Given the description of an element on the screen output the (x, y) to click on. 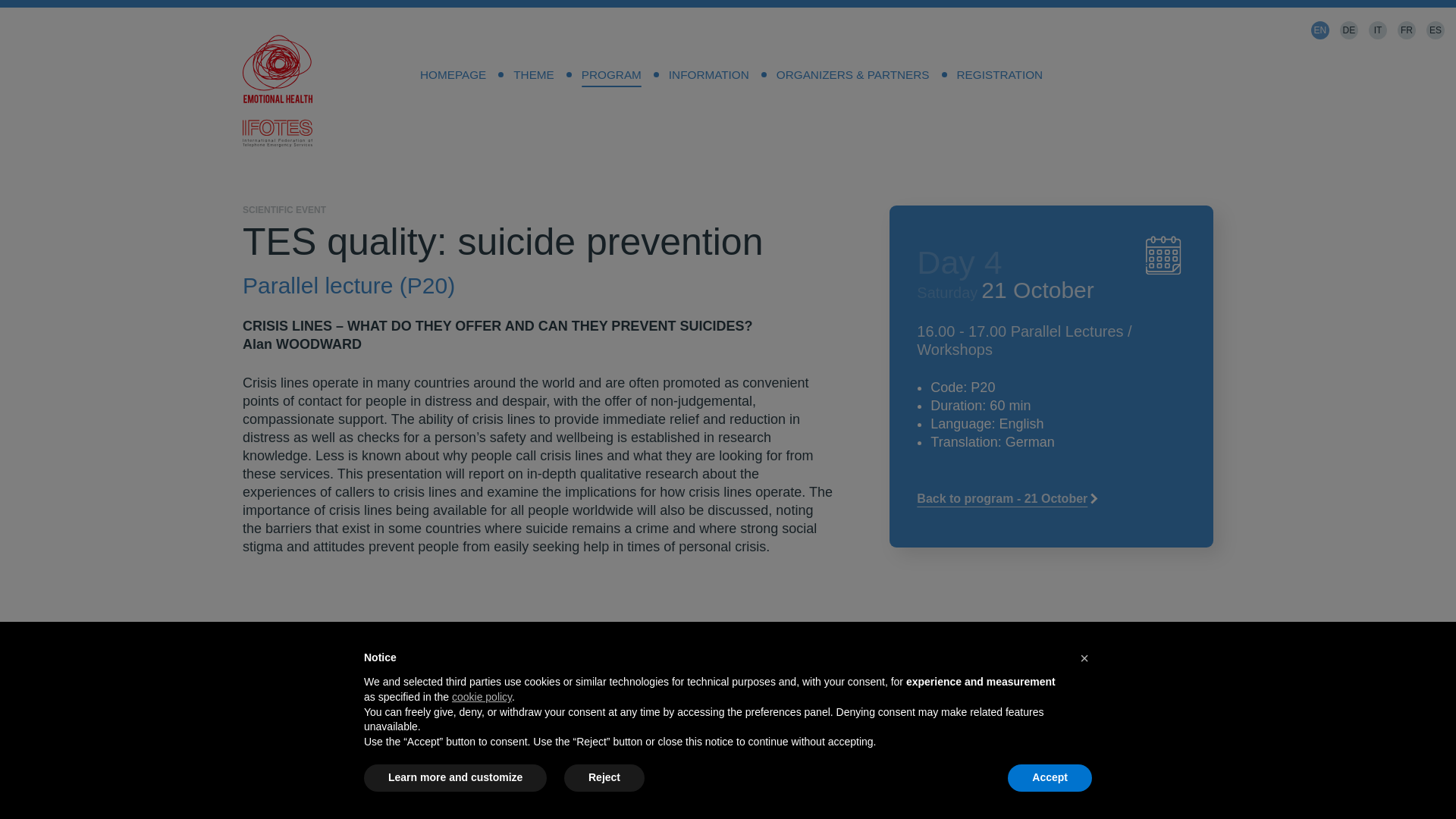
cookie policy (481, 696)
EN (1320, 30)
REGISTRATION (1000, 74)
Accept (1049, 777)
HOMEPAGE (452, 74)
PROGRAM (611, 74)
Back to program - 21 October (1012, 499)
THEME (533, 74)
IT (1377, 30)
DE (1348, 30)
FR (1406, 30)
ES (1435, 30)
Learn more and customize (455, 777)
Reject (604, 777)
INFORMATION (708, 74)
